Given the description of an element on the screen output the (x, y) to click on. 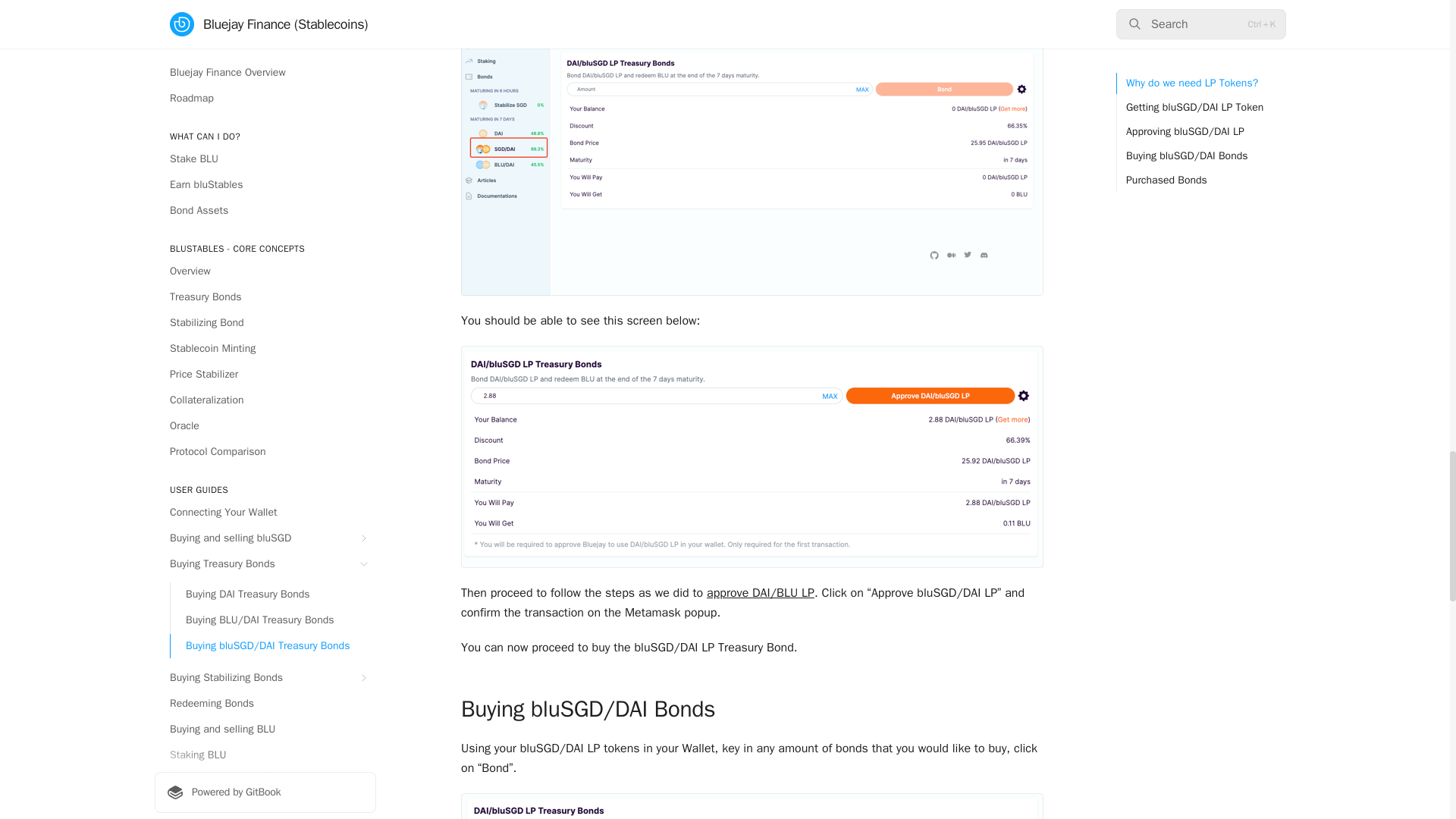
Broken link (759, 592)
